Given the description of an element on the screen output the (x, y) to click on. 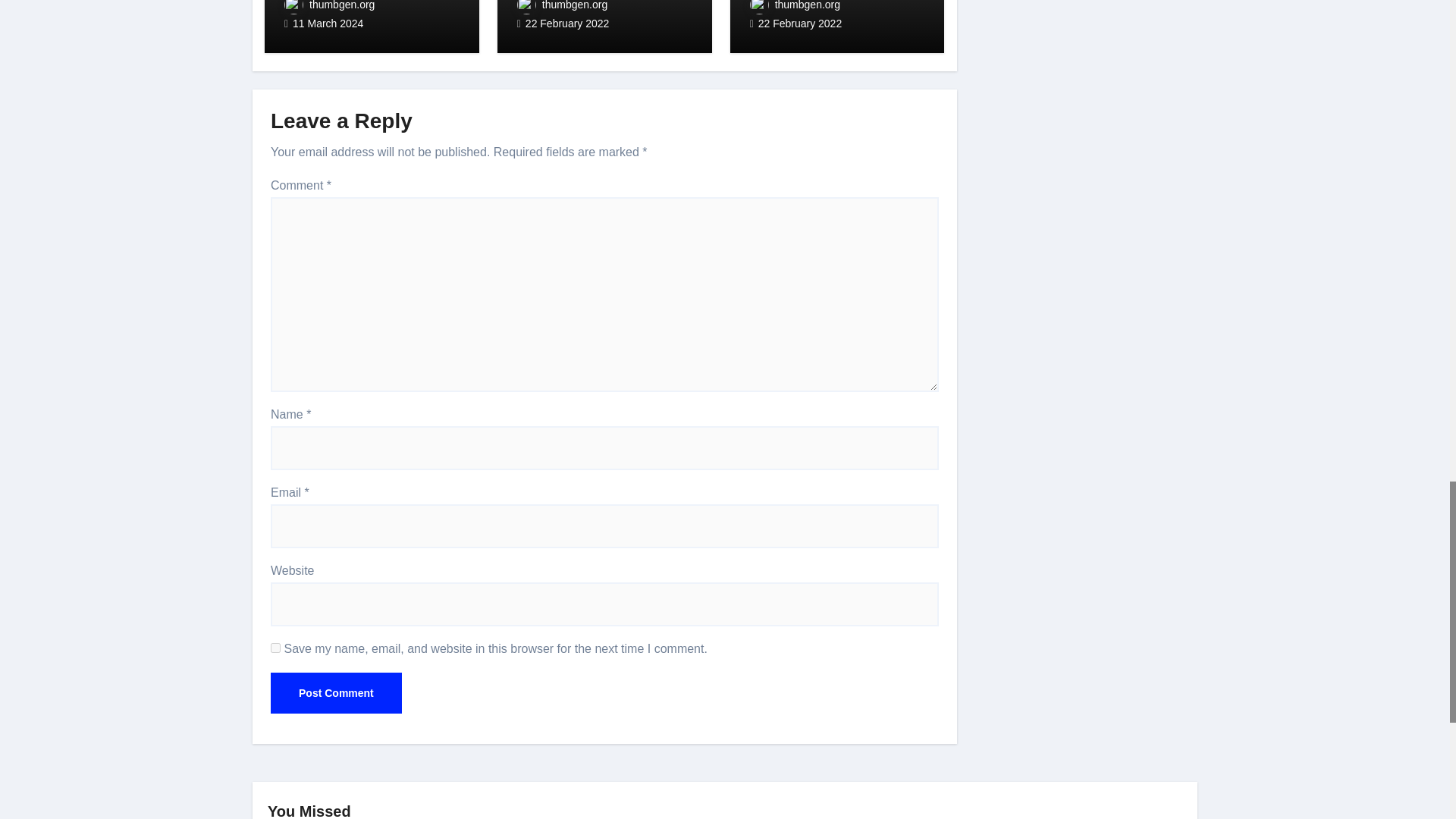
Post Comment (335, 692)
yes (275, 647)
